Given the description of an element on the screen output the (x, y) to click on. 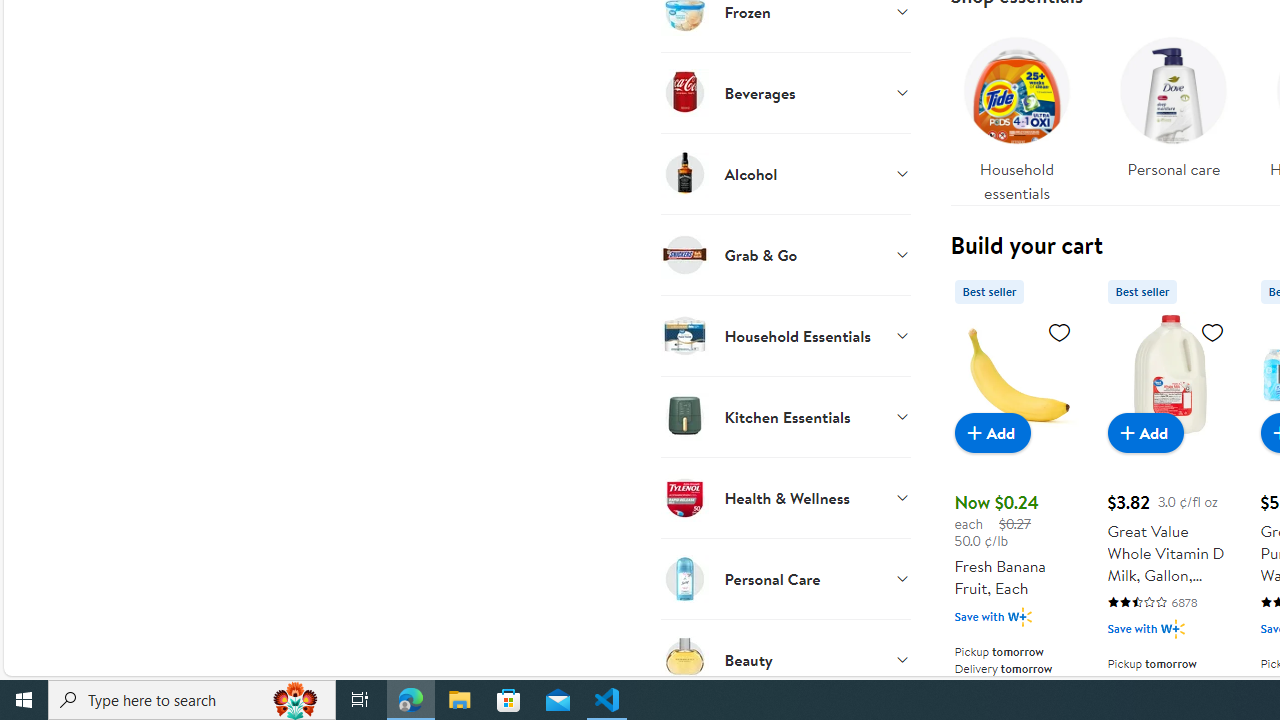
Grab & Go (785, 254)
Household Essentials (785, 335)
Sign in to add to Favorites list, Fresh Banana Fruit, Each (1059, 331)
Personal care (1173, 114)
Beauty (785, 659)
Add to cart - Fresh Banana Fruit, Each (992, 431)
Household essentials (1016, 114)
